Given the description of an element on the screen output the (x, y) to click on. 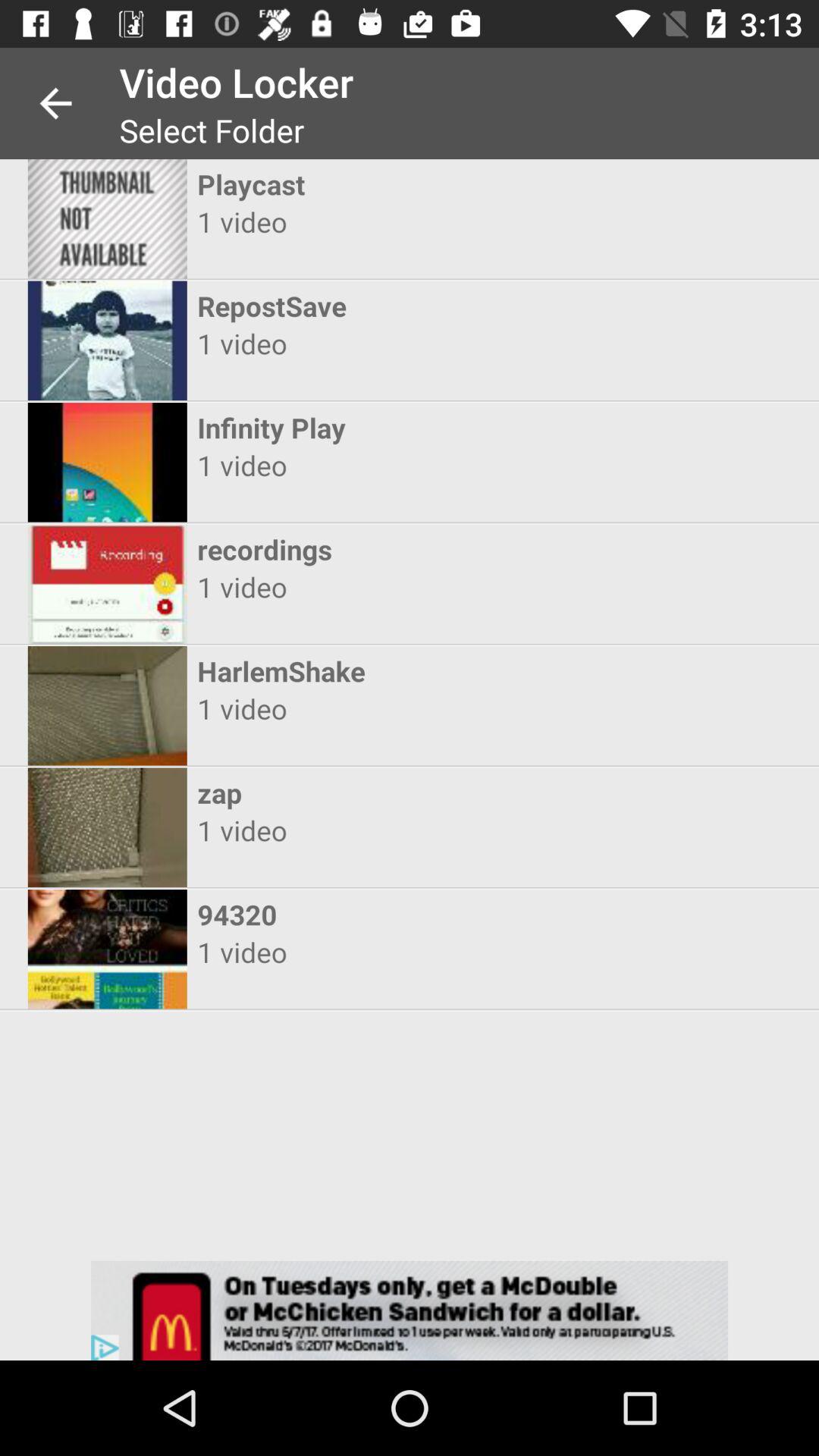
tap app below the select folder app (396, 184)
